Given the description of an element on the screen output the (x, y) to click on. 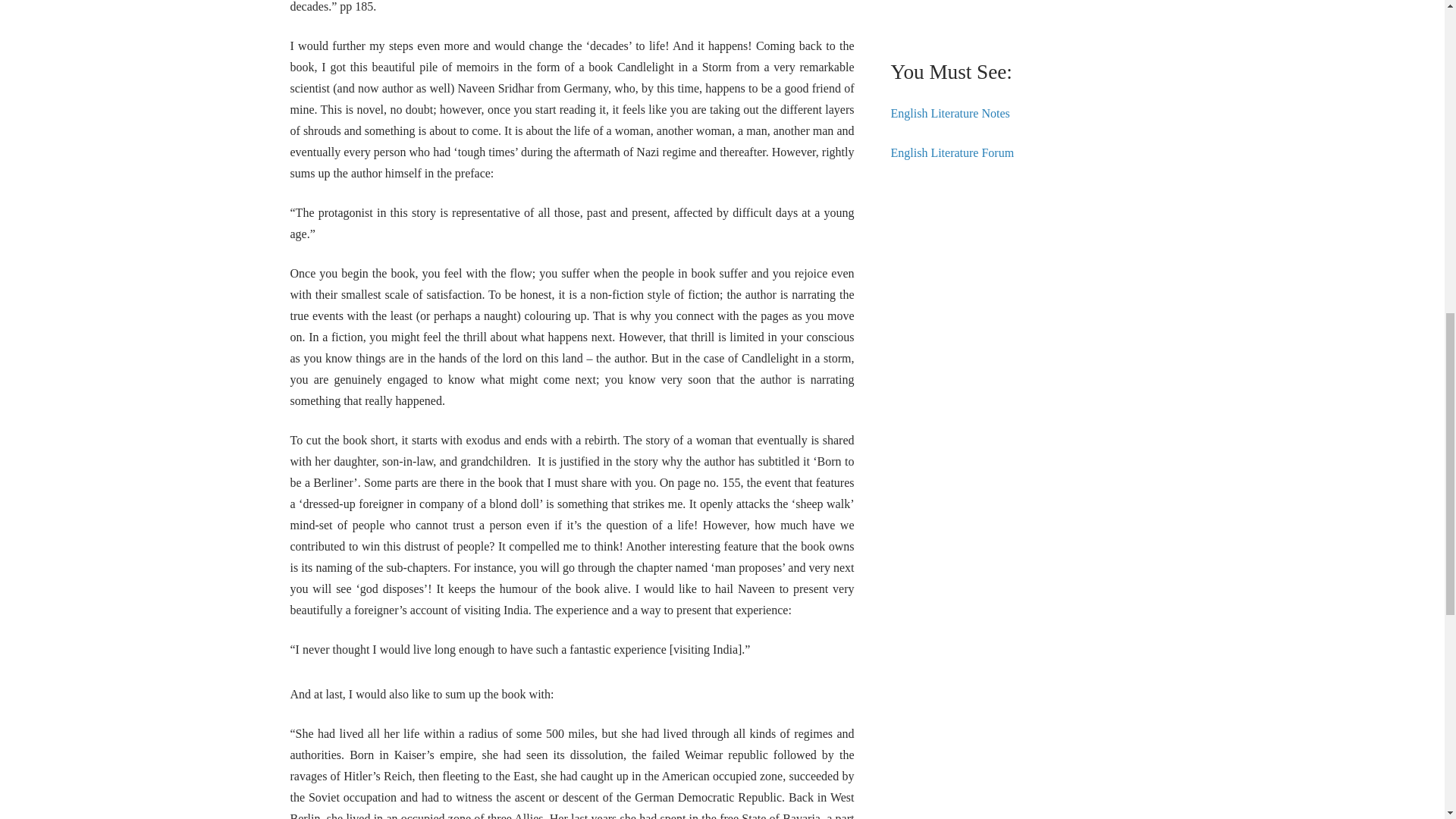
Back to top (1413, 26)
